Given the description of an element on the screen output the (x, y) to click on. 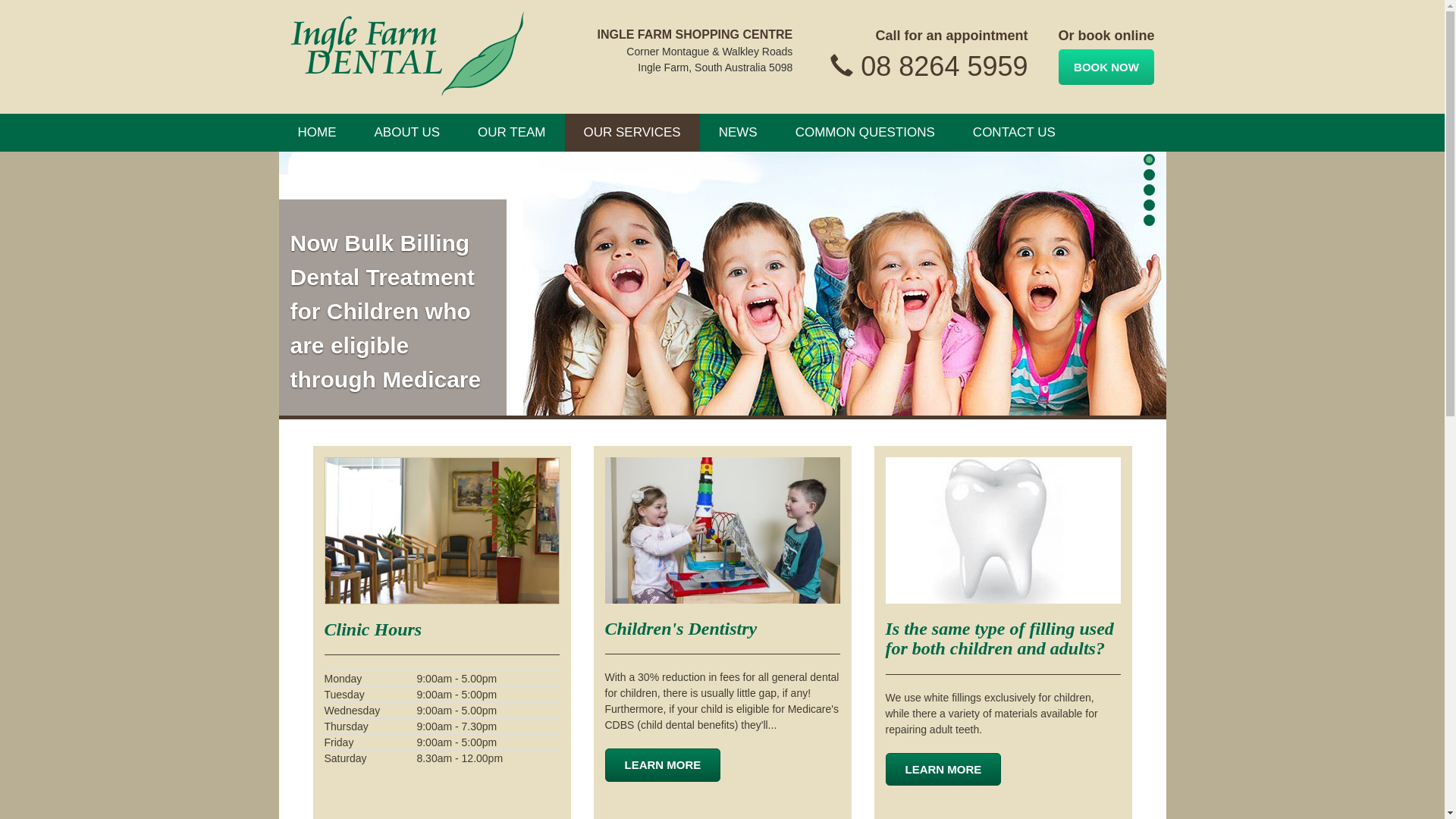
OUR TEAM Element type: text (511, 132)
08 8264 5959 Element type: text (943, 65)
COMMON QUESTIONS Element type: text (864, 132)
NEWS Element type: text (737, 132)
HOME Element type: text (317, 132)
OUR SERVICES Element type: text (631, 132)
BOOK NOW Element type: text (1106, 66)
CONTACT US Element type: text (1013, 132)
LEARN MORE Element type: text (943, 769)
LEARN MORE Element type: text (663, 764)
ABOUT US Element type: text (406, 132)
